Given the description of an element on the screen output the (x, y) to click on. 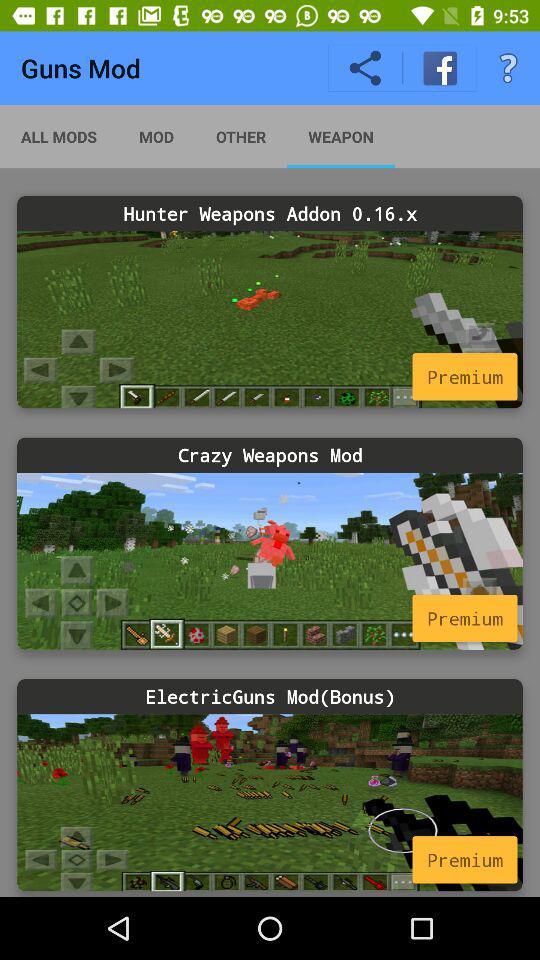
swipe to other app (240, 136)
